Given the description of an element on the screen output the (x, y) to click on. 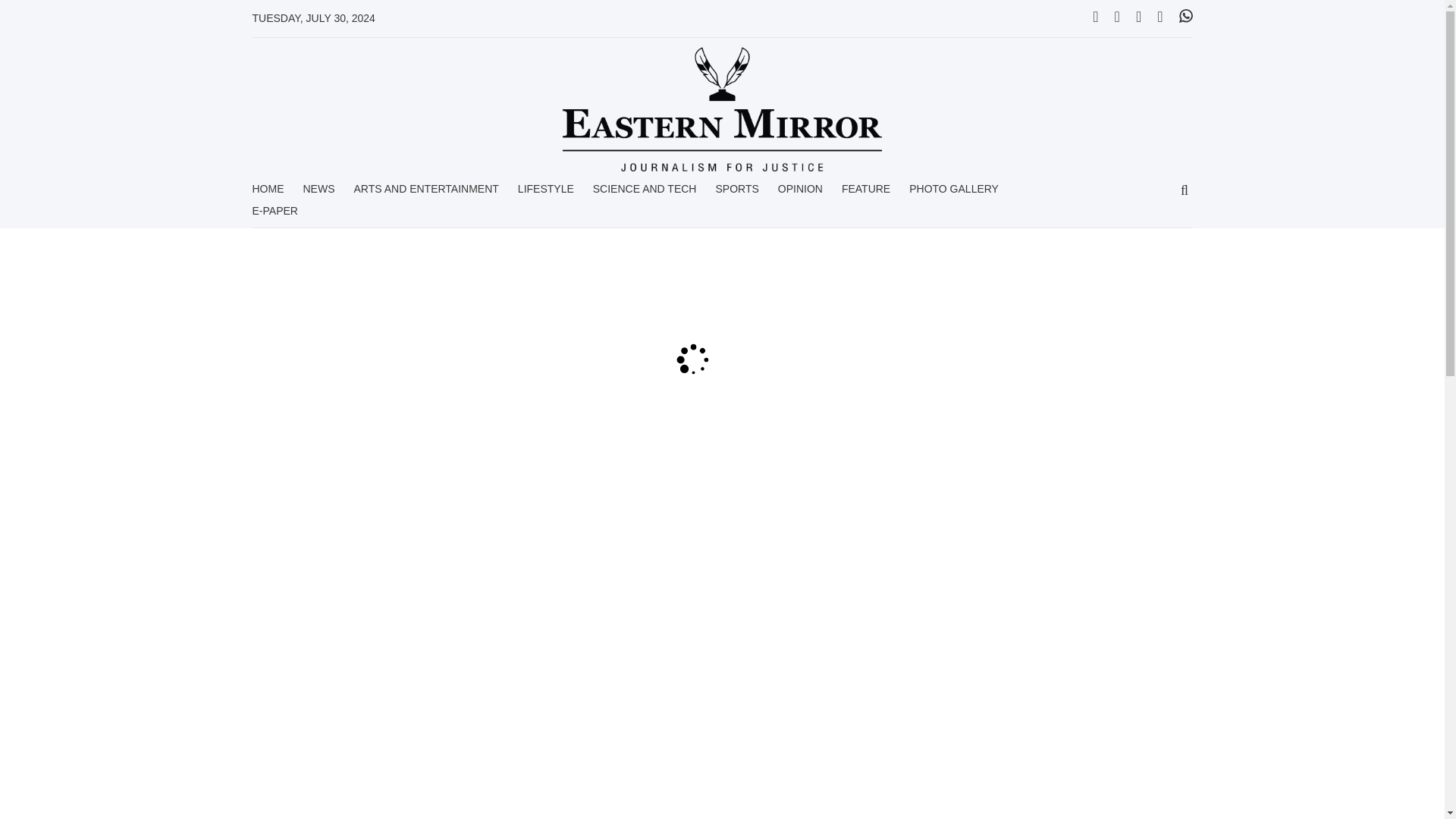
ARTS AND ENTERTAINMENT (425, 194)
HOME (267, 194)
Eastern Mirror (722, 109)
LIFESTYLE (545, 194)
GO (1184, 191)
GO (1184, 191)
NEWS (318, 194)
